Given the description of an element on the screen output the (x, y) to click on. 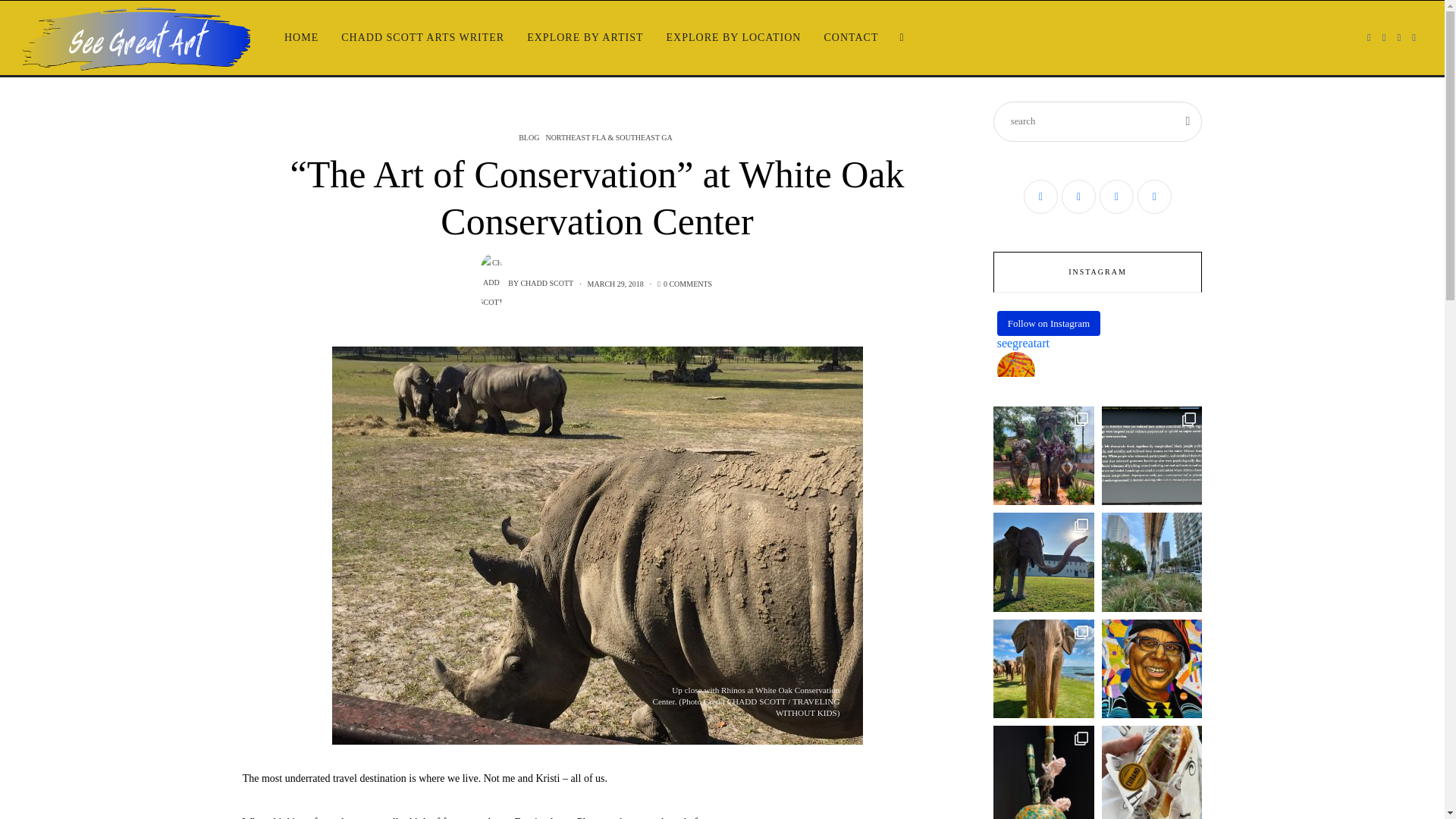
BLOG (529, 137)
EXPLORE BY LOCATION (733, 37)
EXPLORE BY ARTIST (584, 37)
CHADD SCOTT ARTS WRITER (422, 37)
Sharing great art from across North America (136, 37)
HOME (301, 37)
Posts by Chadd Scott (546, 284)
CONTACT (850, 37)
